Given the description of an element on the screen output the (x, y) to click on. 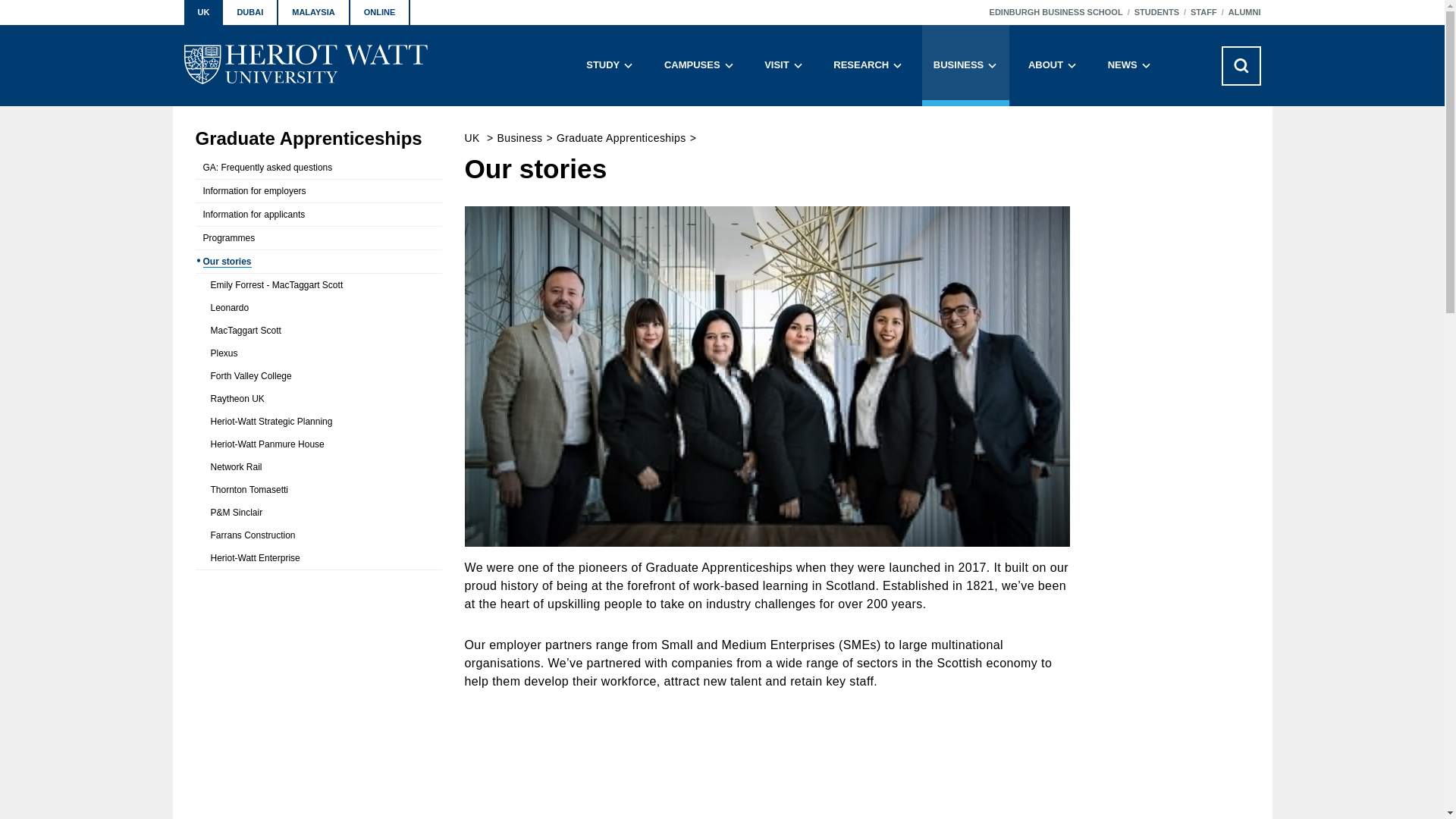
STUDENTS (1156, 12)
STAFF (1204, 12)
MALAYSIA (313, 12)
DUBAI (250, 12)
UK (202, 12)
ALUMNI (1244, 12)
ONLINE (380, 12)
EDINBURGH BUSINESS SCHOOL (1056, 12)
